Given the description of an element on the screen output the (x, y) to click on. 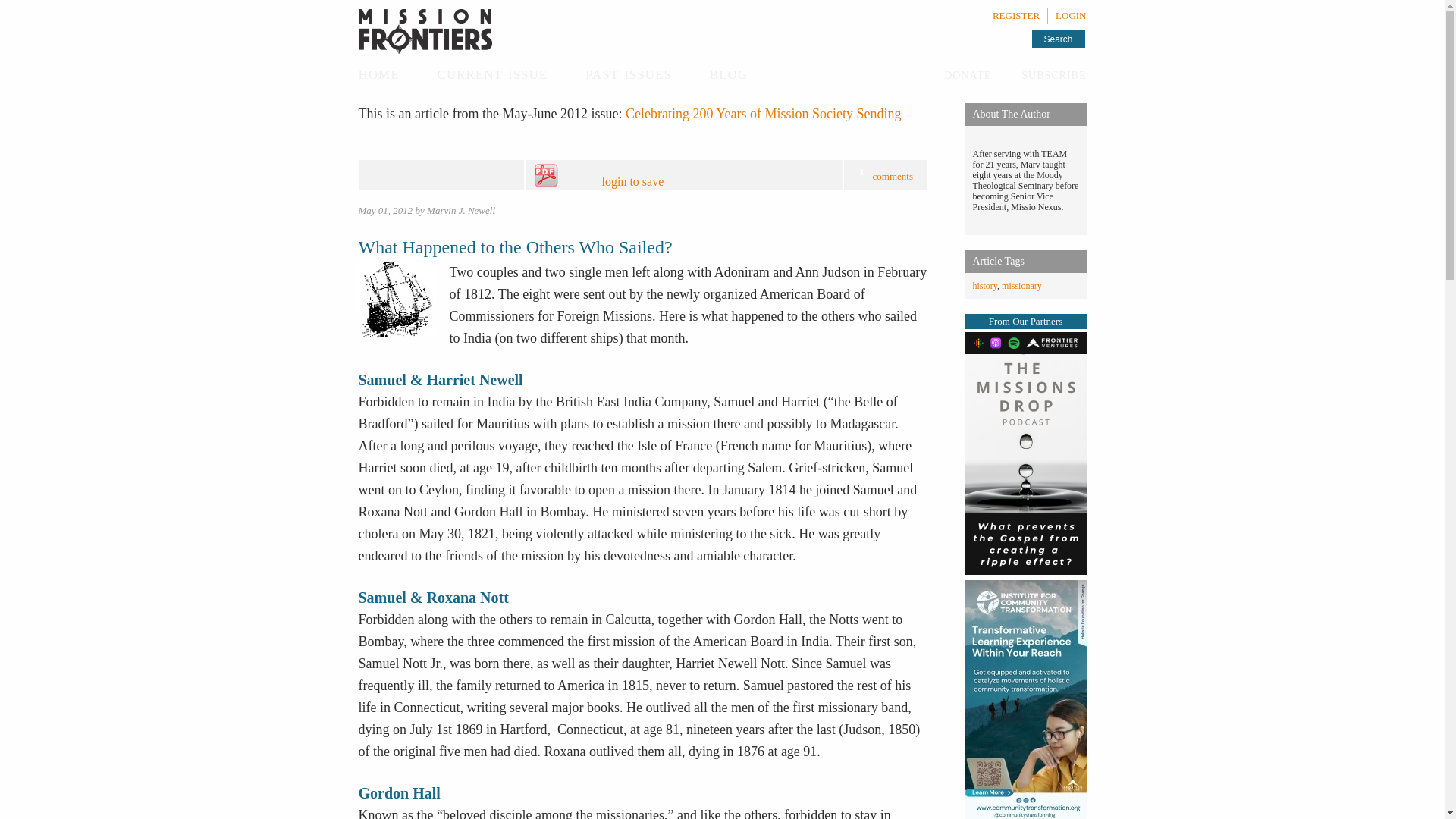
missionary (1021, 285)
home (378, 72)
history (984, 285)
LOGIN (1070, 15)
current issue (493, 72)
missionary (1021, 285)
blog (729, 72)
history (984, 285)
Search (1057, 38)
subscribe (1054, 74)
